Given the description of an element on the screen output the (x, y) to click on. 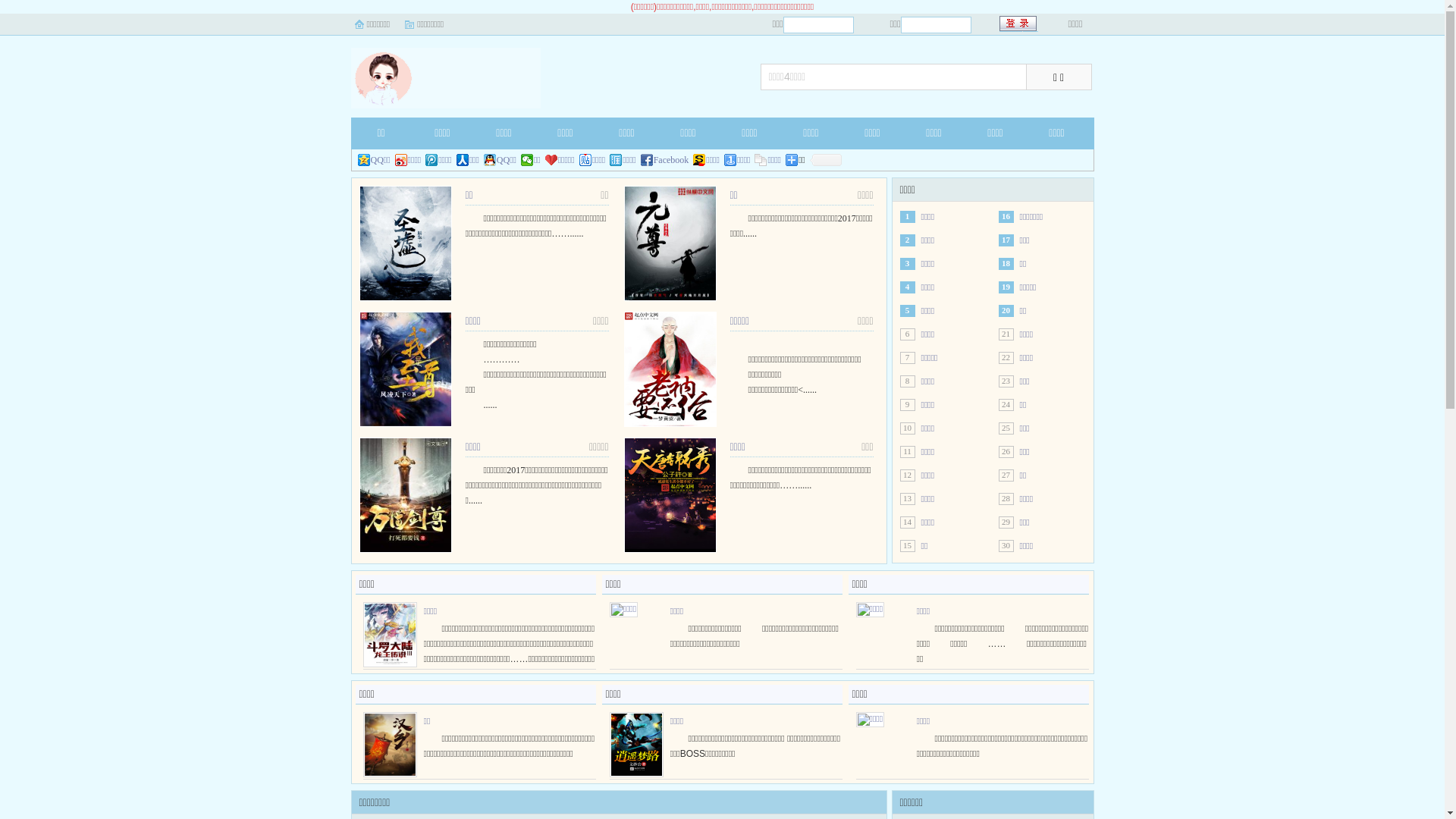
Facebook Element type: text (664, 159)
